Given the description of an element on the screen output the (x, y) to click on. 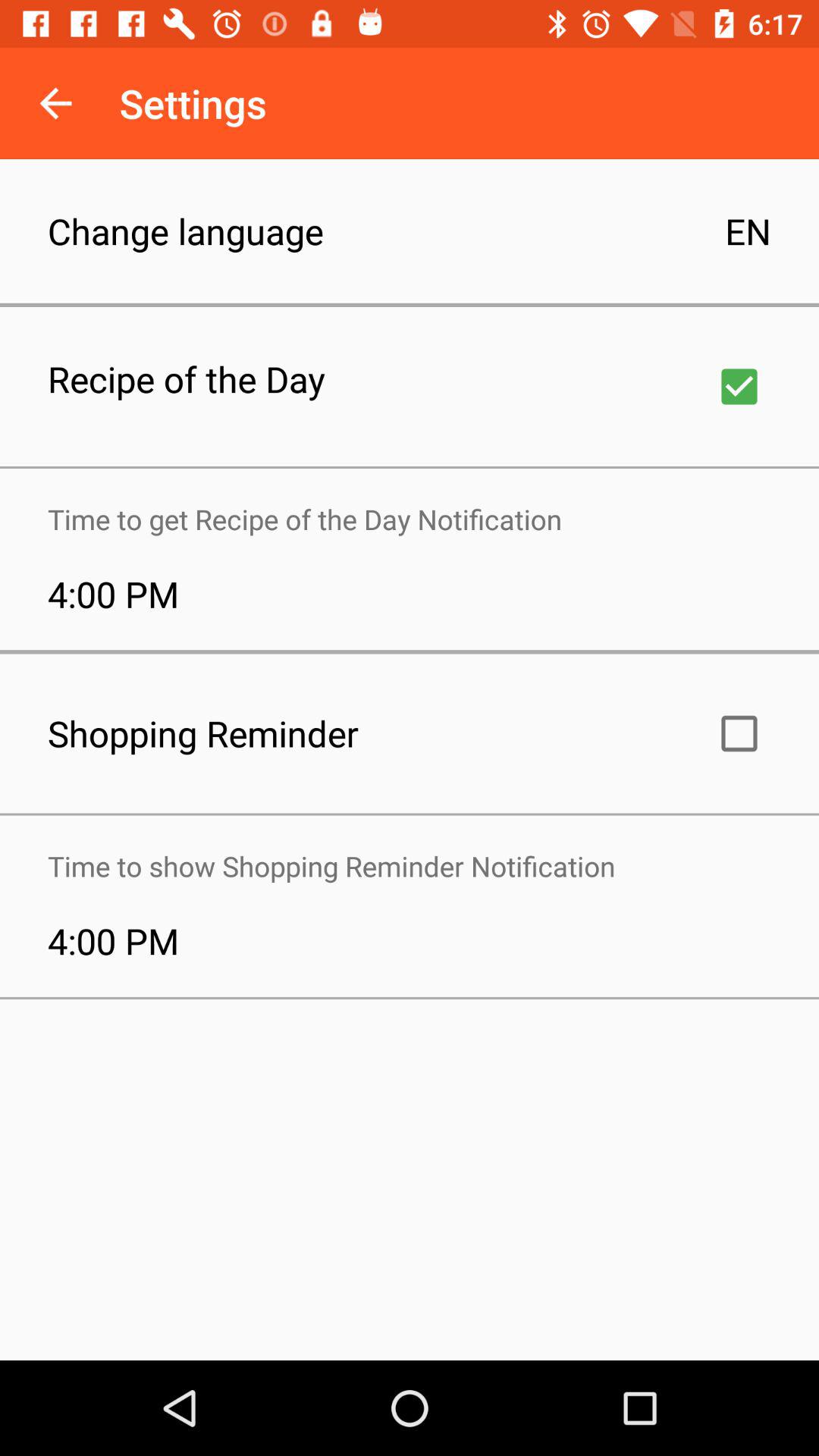
click button (739, 733)
